Given the description of an element on the screen output the (x, y) to click on. 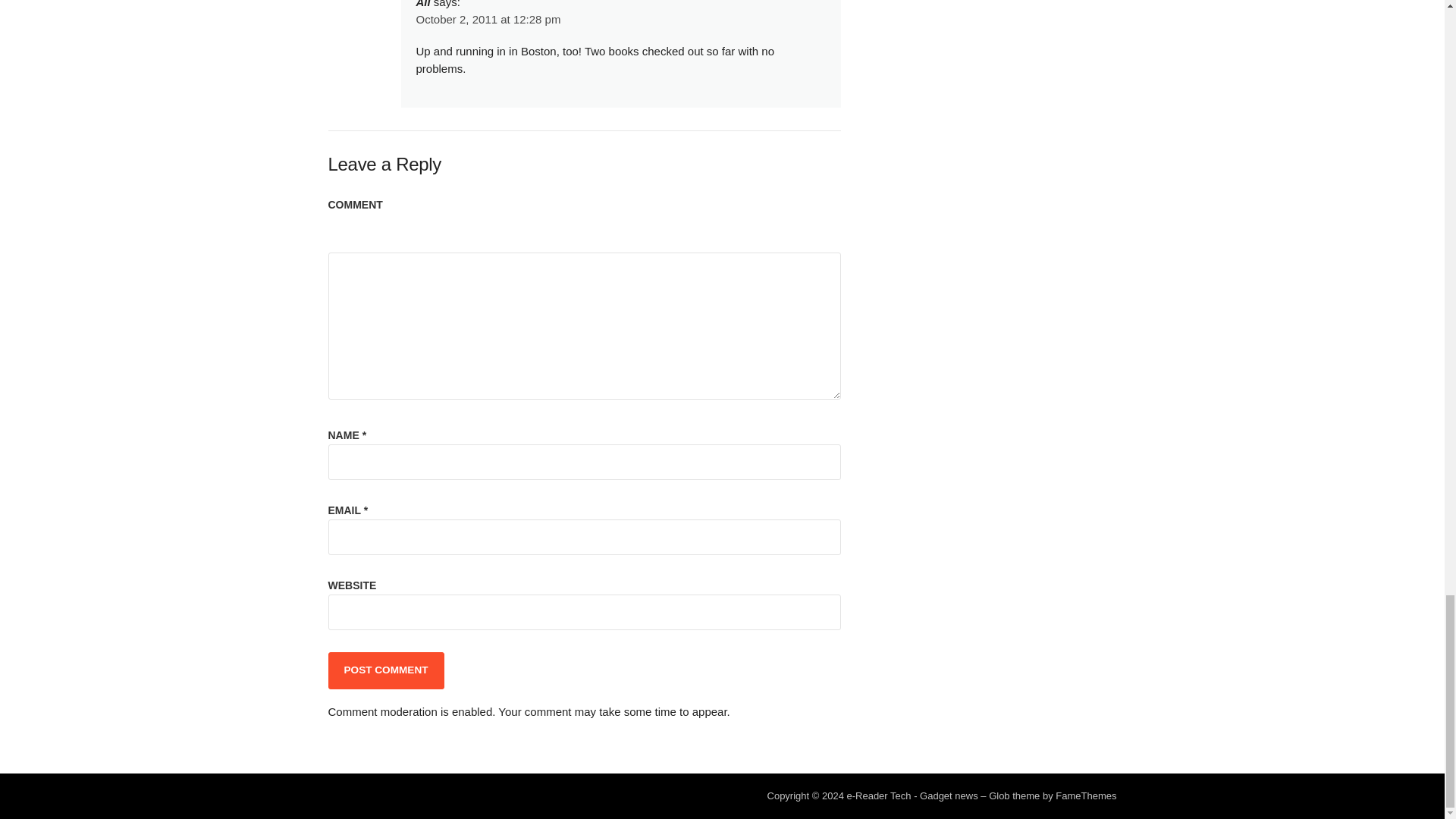
Post Comment (385, 669)
